Given the description of an element on the screen output the (x, y) to click on. 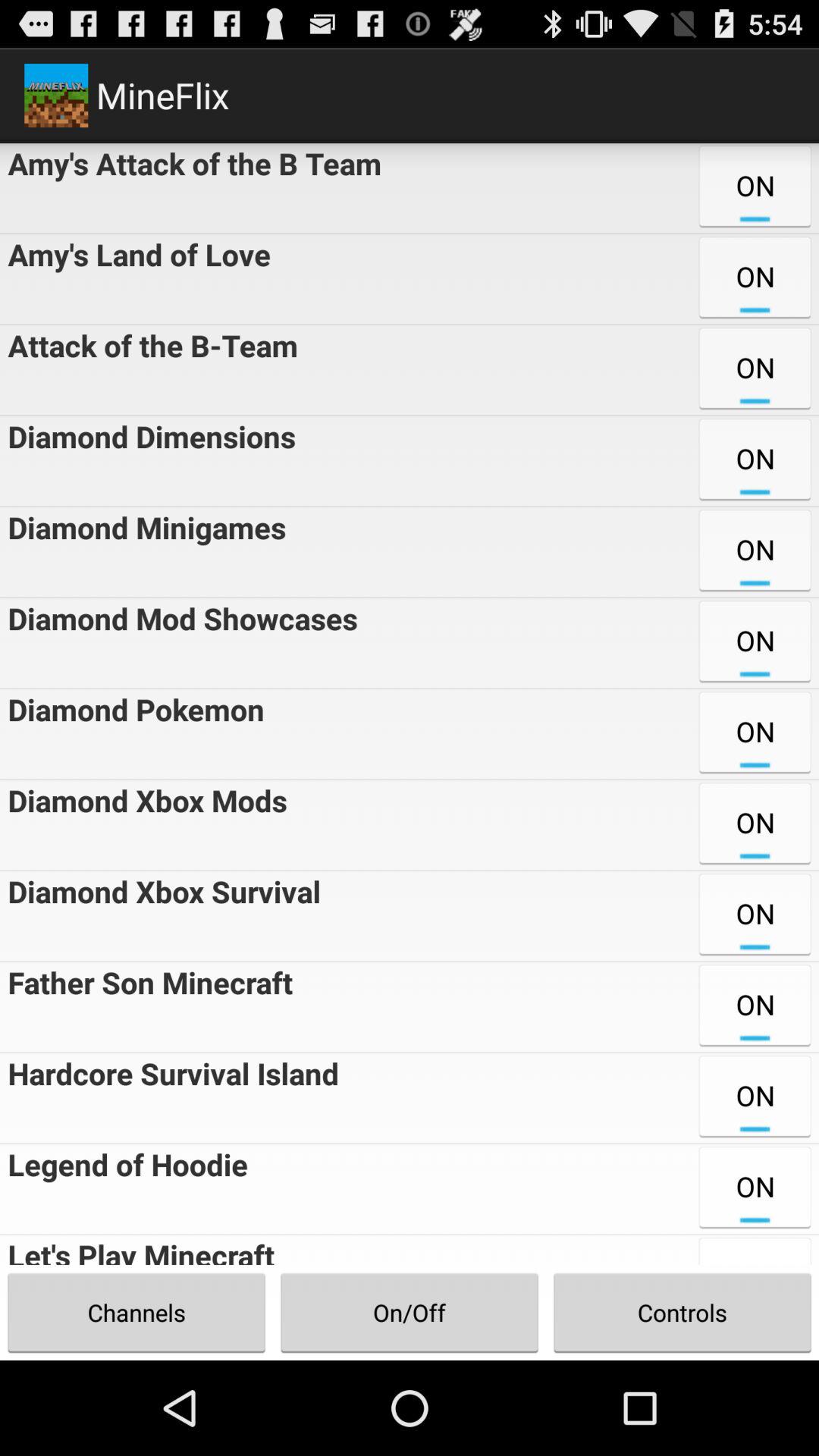
jump to the diamond dimensions (147, 461)
